Given the description of an element on the screen output the (x, y) to click on. 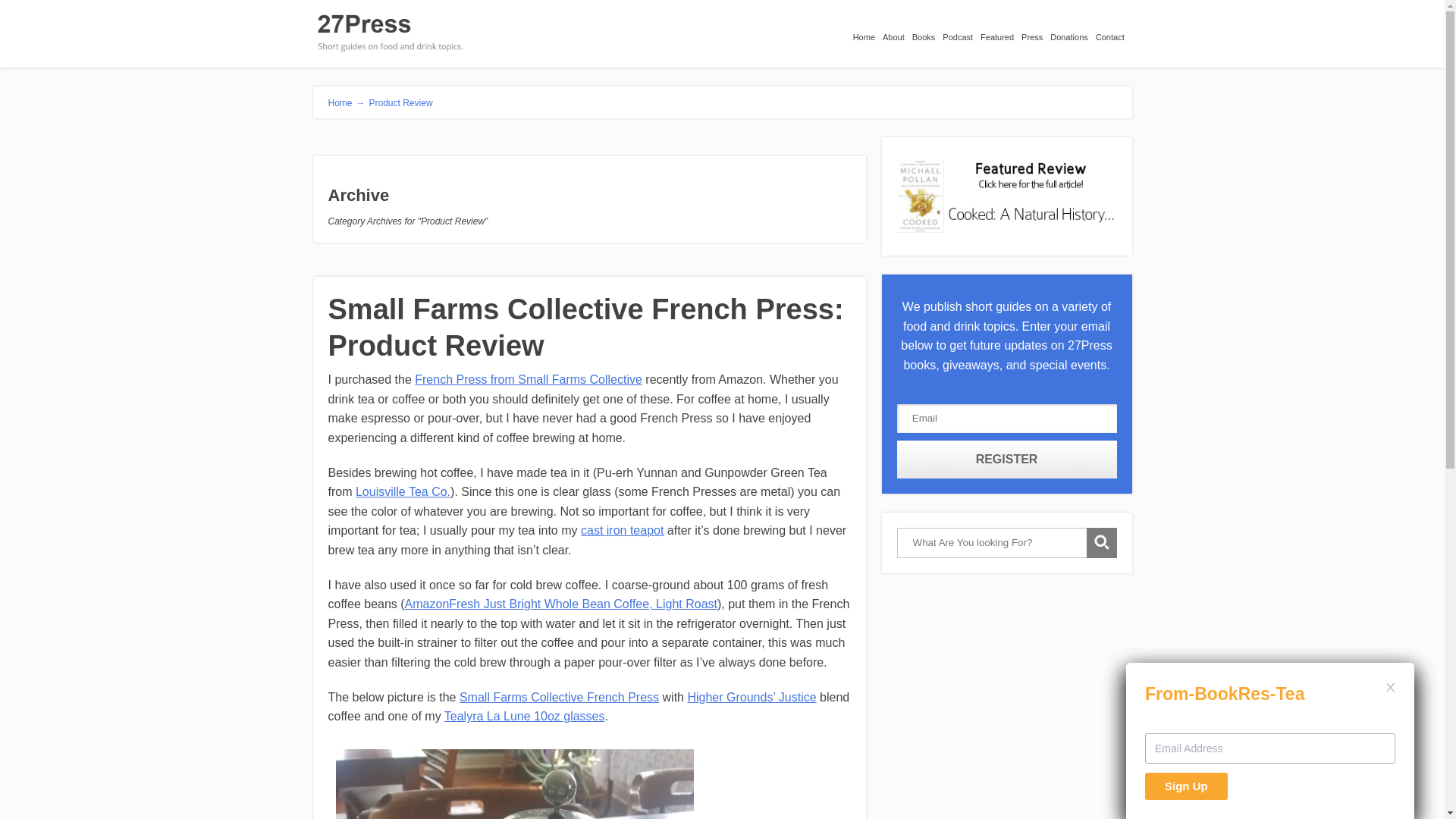
Tealyra La Lune 10oz glasses Element type: text (524, 715)
Small Farms Collective French Press Element type: text (558, 696)
Register Element type: text (1007, 459)
French Press from Small Farms Collective Element type: text (528, 379)
About Element type: text (897, 33)
cast iron teapot Element type: text (621, 530)
Louisville Tea Co. Element type: text (402, 491)
Contact Element type: text (1113, 33)
Small Farms Collective French Press: Product Review Element type: text (585, 327)
Home Element type: text (867, 33)
Product Review Element type: text (401, 102)
Podcast Element type: text (961, 33)
Press Element type: text (1035, 33)
AmazonFresh Just Bright Whole Bean Coffee, Light Roast Element type: text (560, 603)
Featured Element type: text (1000, 33)
Sign Up Element type: text (1186, 786)
Books Element type: text (927, 33)
Donations Element type: text (1072, 33)
